Given the description of an element on the screen output the (x, y) to click on. 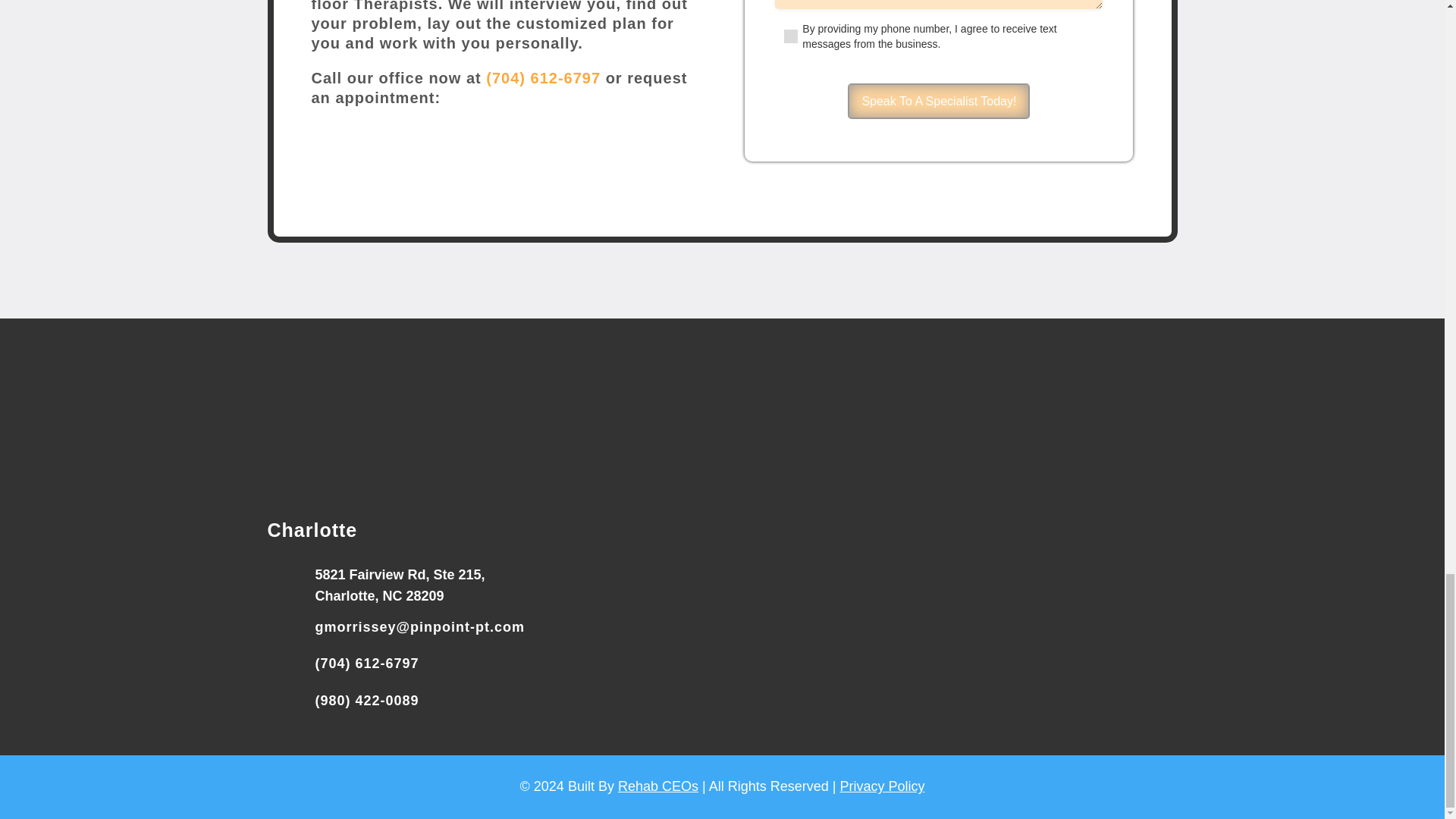
PinpointArrow (611, 163)
hd (721, 401)
Speak To A Specialist Today! (938, 100)
